Given the description of an element on the screen output the (x, y) to click on. 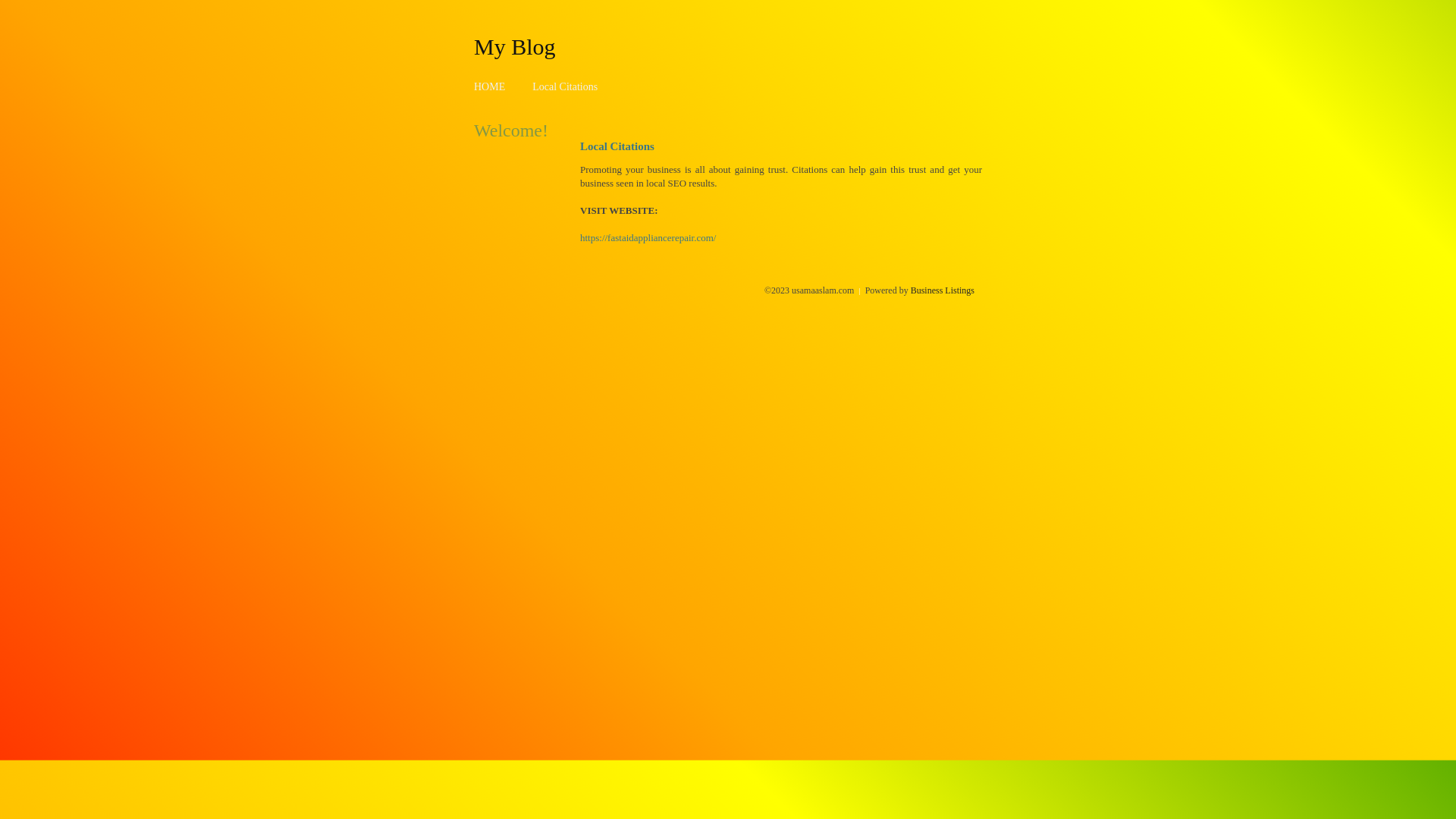
HOME Element type: text (489, 86)
My Blog Element type: text (514, 46)
Business Listings Element type: text (942, 290)
https://fastaidappliancerepair.com/ Element type: text (647, 237)
Local Citations Element type: text (564, 86)
